Given the description of an element on the screen output the (x, y) to click on. 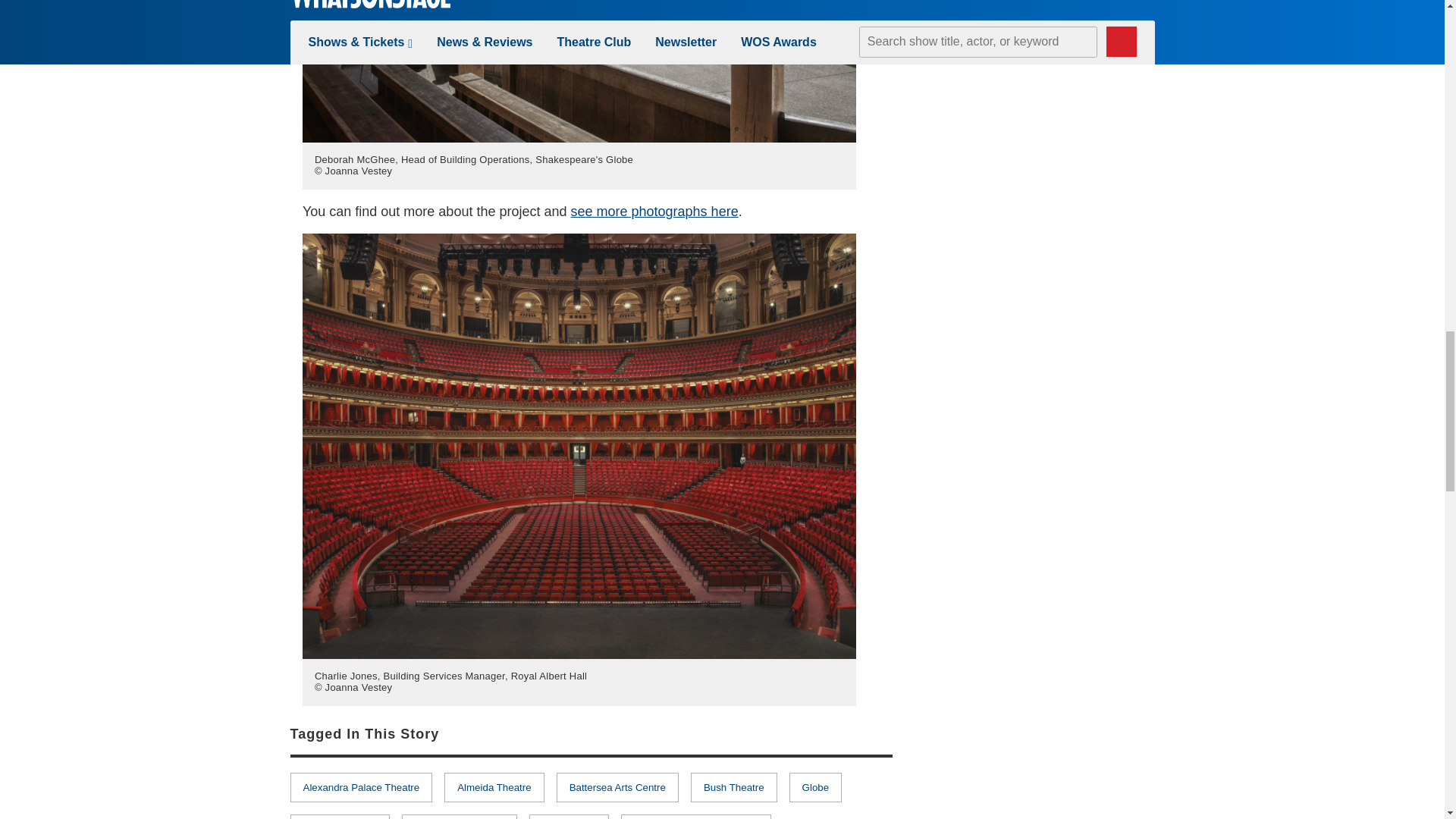
3rd party ad content (1040, 766)
